Given the description of an element on the screen output the (x, y) to click on. 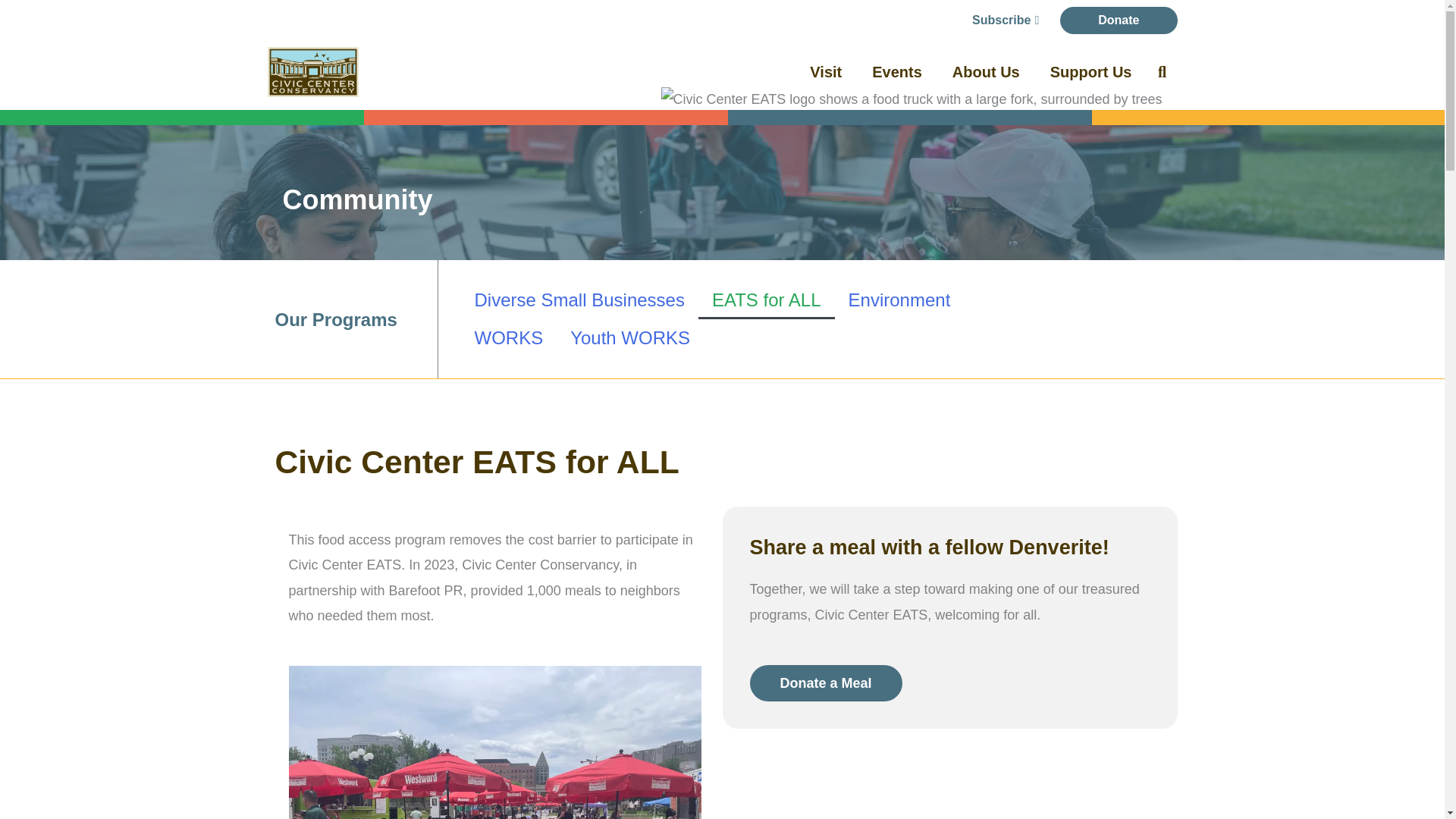
Donate (1117, 20)
About Us (986, 71)
Support Us (1091, 71)
Subscribe (1004, 20)
Civic Center Eats Logo CMYK (911, 181)
Events (897, 71)
